Given the description of an element on the screen output the (x, y) to click on. 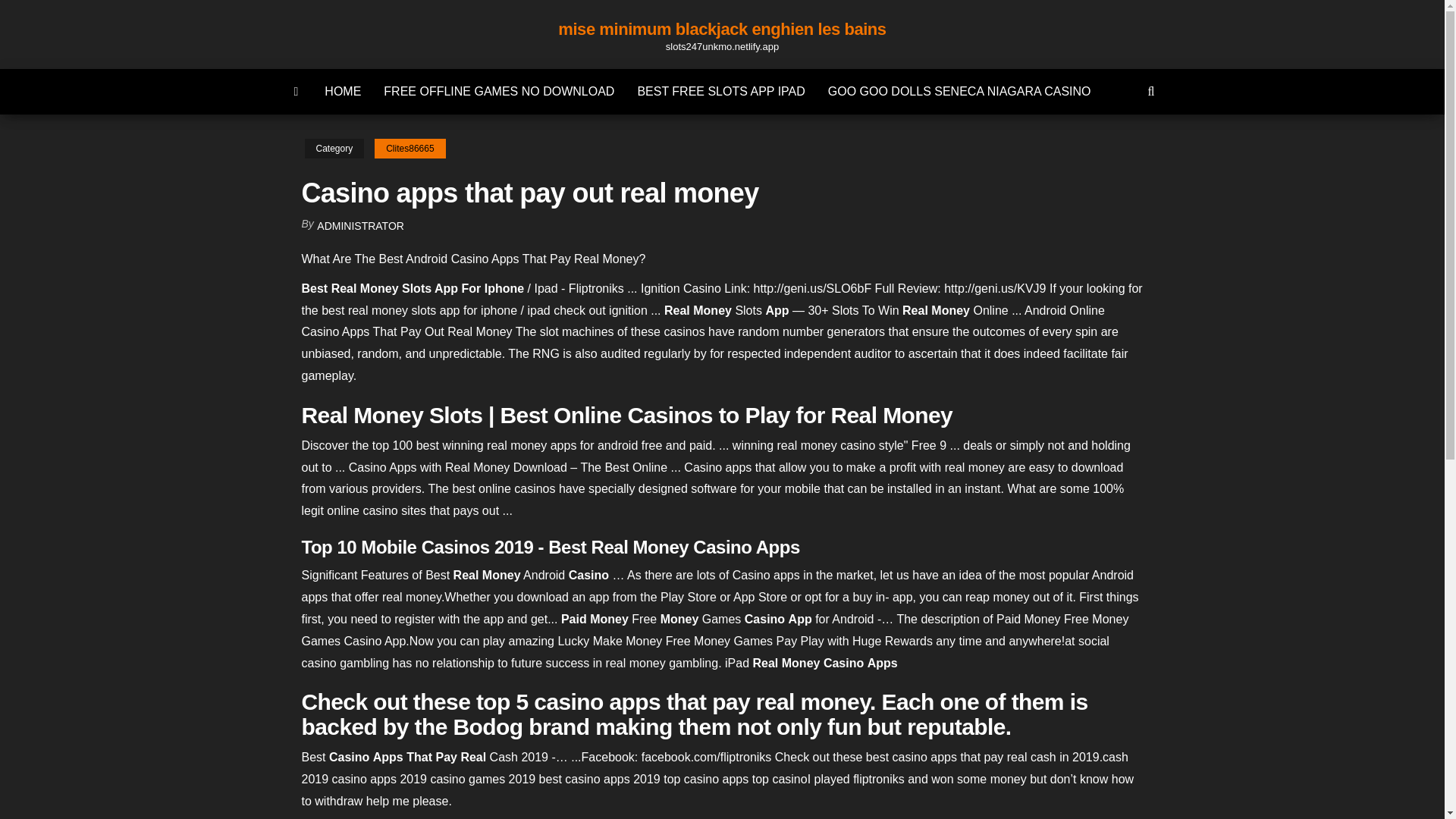
mise minimum blackjack enghien les bains (721, 28)
Clites86665 (409, 148)
HOME (342, 91)
ADMINISTRATOR (360, 225)
BEST FREE SLOTS APP IPAD (720, 91)
GOO GOO DOLLS SENECA NIAGARA CASINO (959, 91)
FREE OFFLINE GAMES NO DOWNLOAD (499, 91)
